Given the description of an element on the screen output the (x, y) to click on. 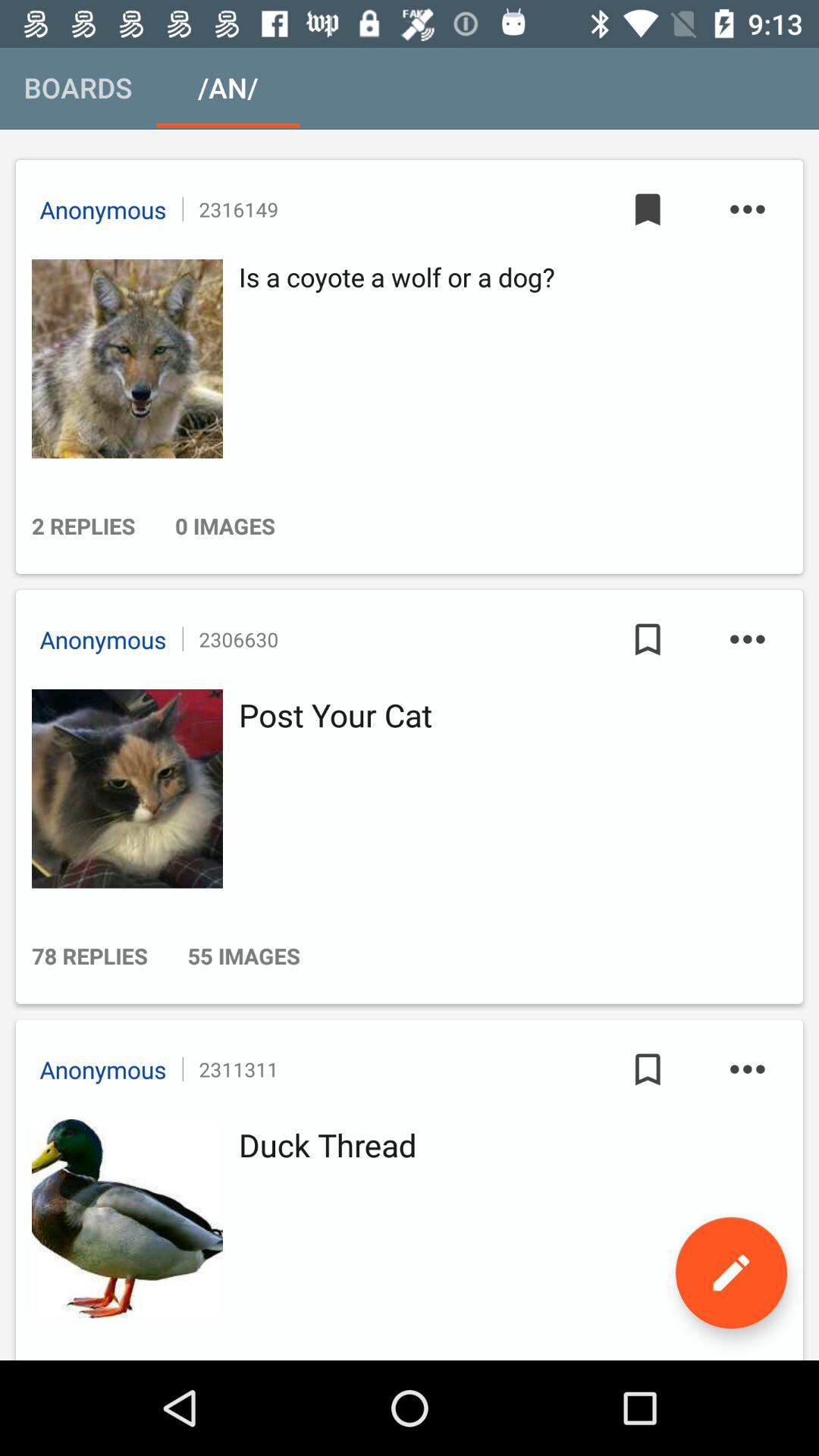
select the image beside duck thread (123, 1219)
click on more button in third option at bottom (747, 1069)
